Given the description of an element on the screen output the (x, y) to click on. 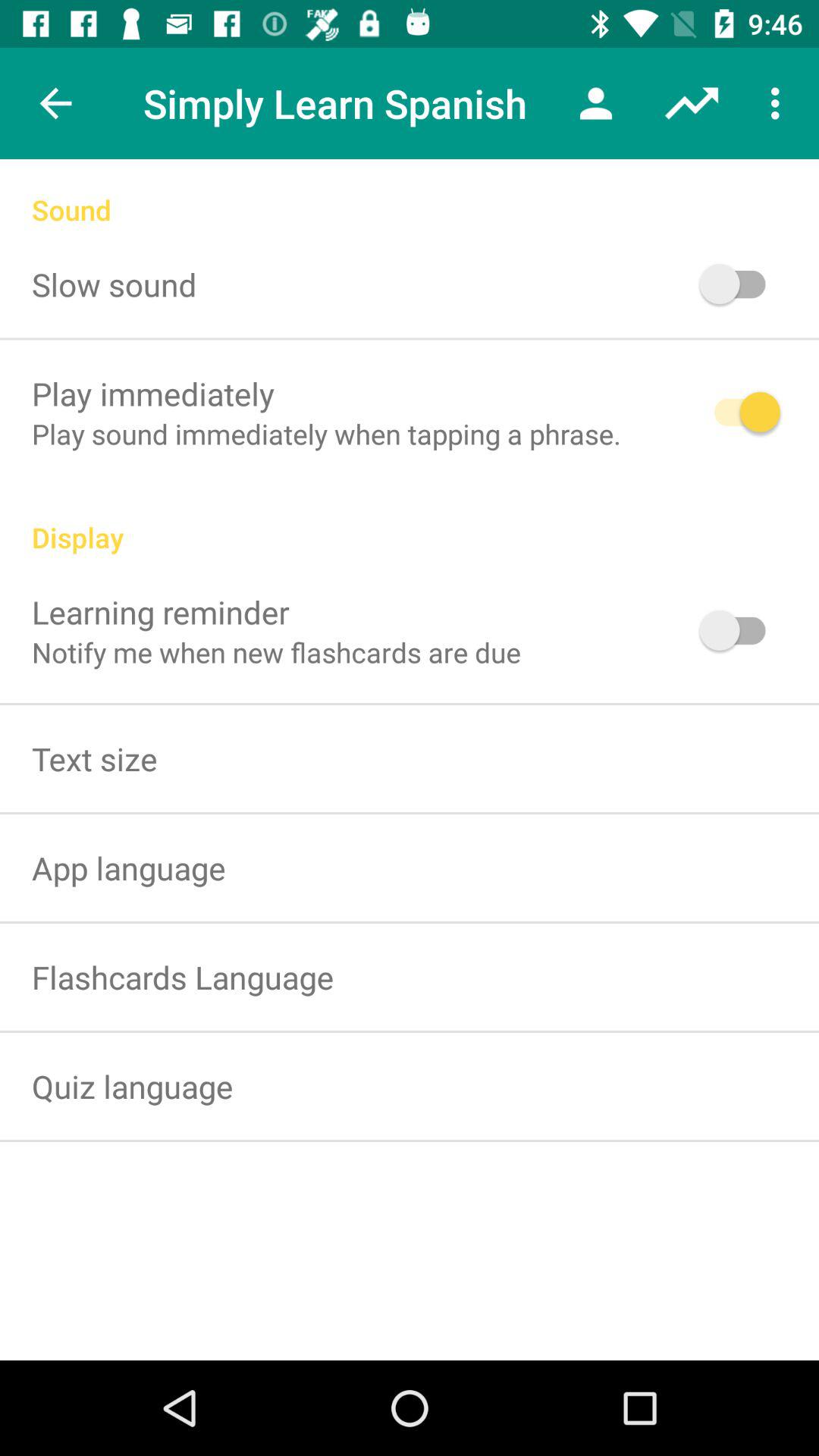
turn on icon below the play sound immediately (409, 521)
